Given the description of an element on the screen output the (x, y) to click on. 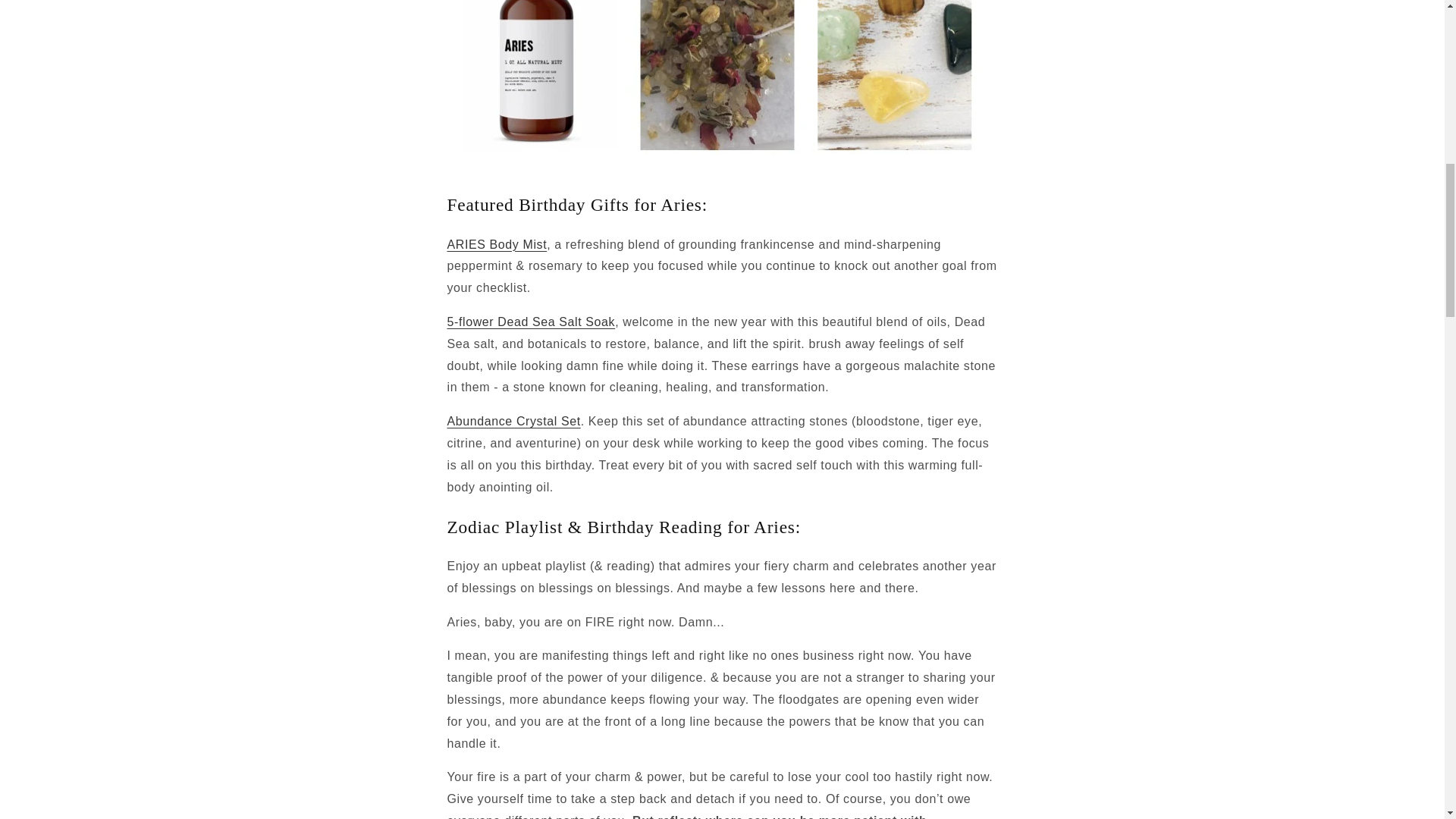
Aries Zodiac Body Mist (496, 244)
